Given the description of an element on the screen output the (x, y) to click on. 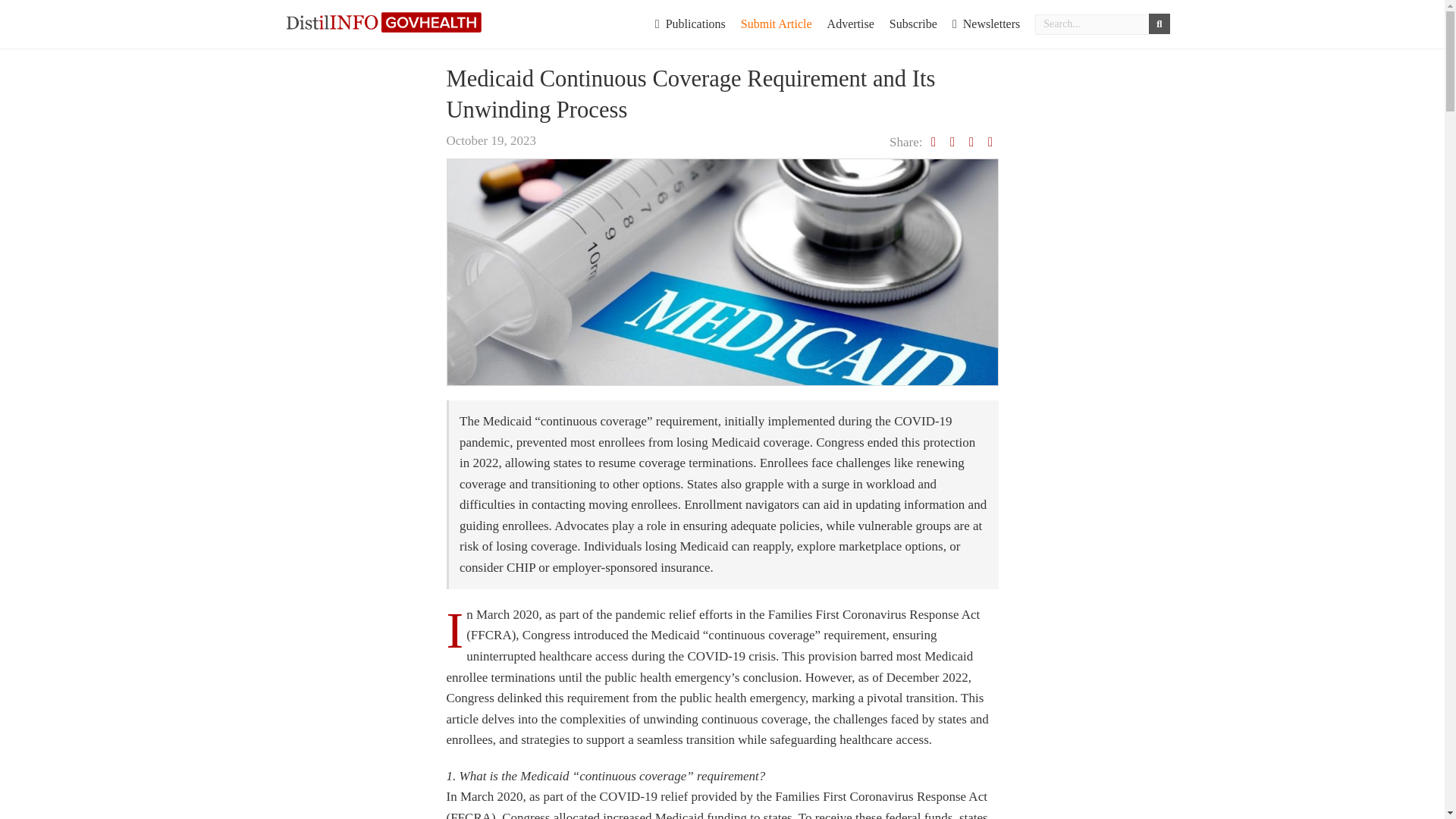
Newsletters Archive (985, 24)
DistilINFO GovHealth Advisory (384, 21)
Submit Article (776, 24)
Newsletters (985, 24)
Subscribe (913, 24)
Publications (690, 24)
Advertise (850, 24)
